Given the description of an element on the screen output the (x, y) to click on. 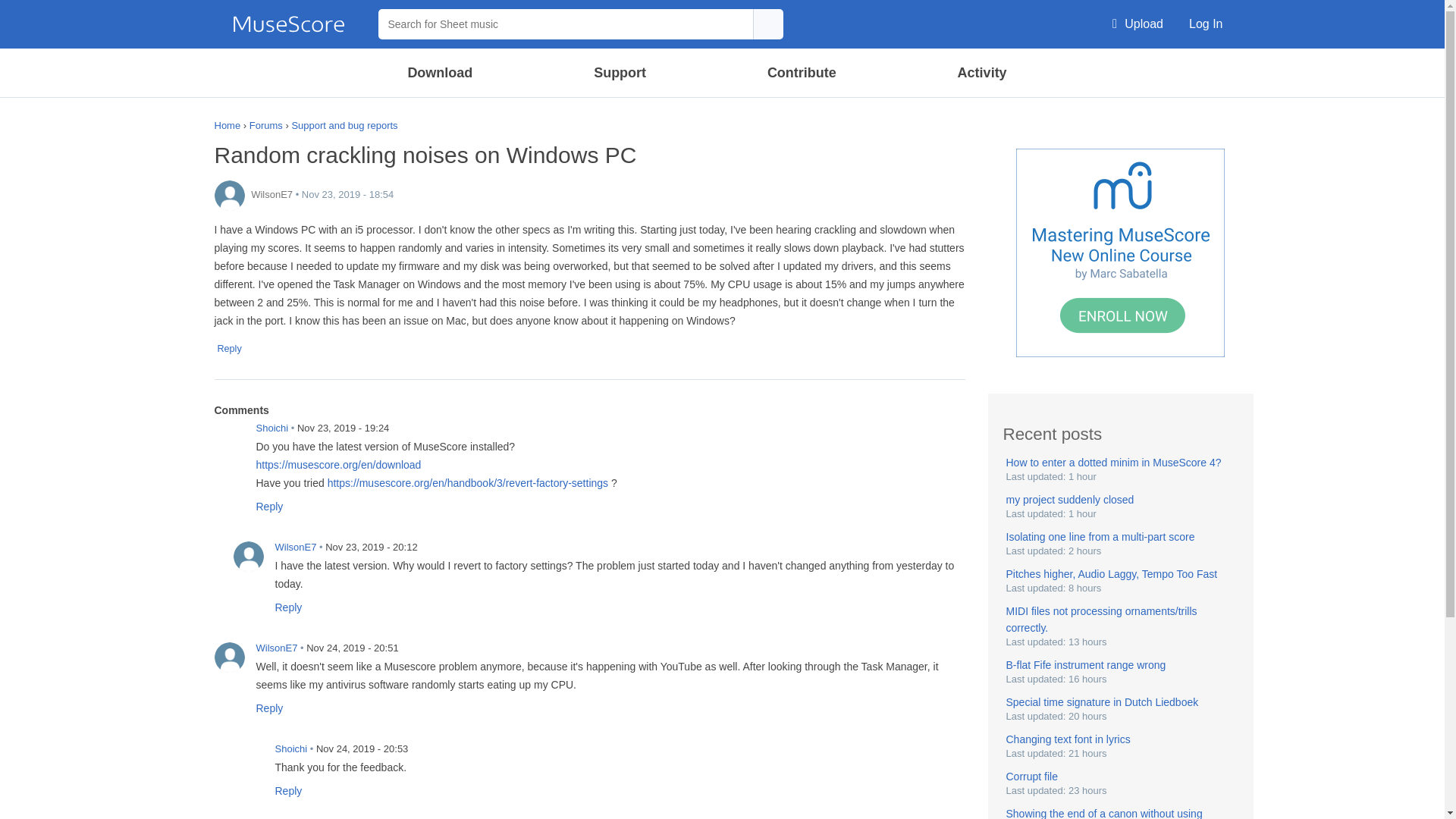
Upload (1137, 24)
Search (767, 24)
Shoichi (247, 757)
WilsonE7 (229, 195)
WilsonE7 (229, 657)
Download (440, 72)
Search (1082, 71)
Support (619, 72)
Home (287, 23)
Activity (981, 72)
Contribute (801, 72)
MuseScore (287, 23)
Log In (1205, 24)
Shoichi (229, 437)
